Given the description of an element on the screen output the (x, y) to click on. 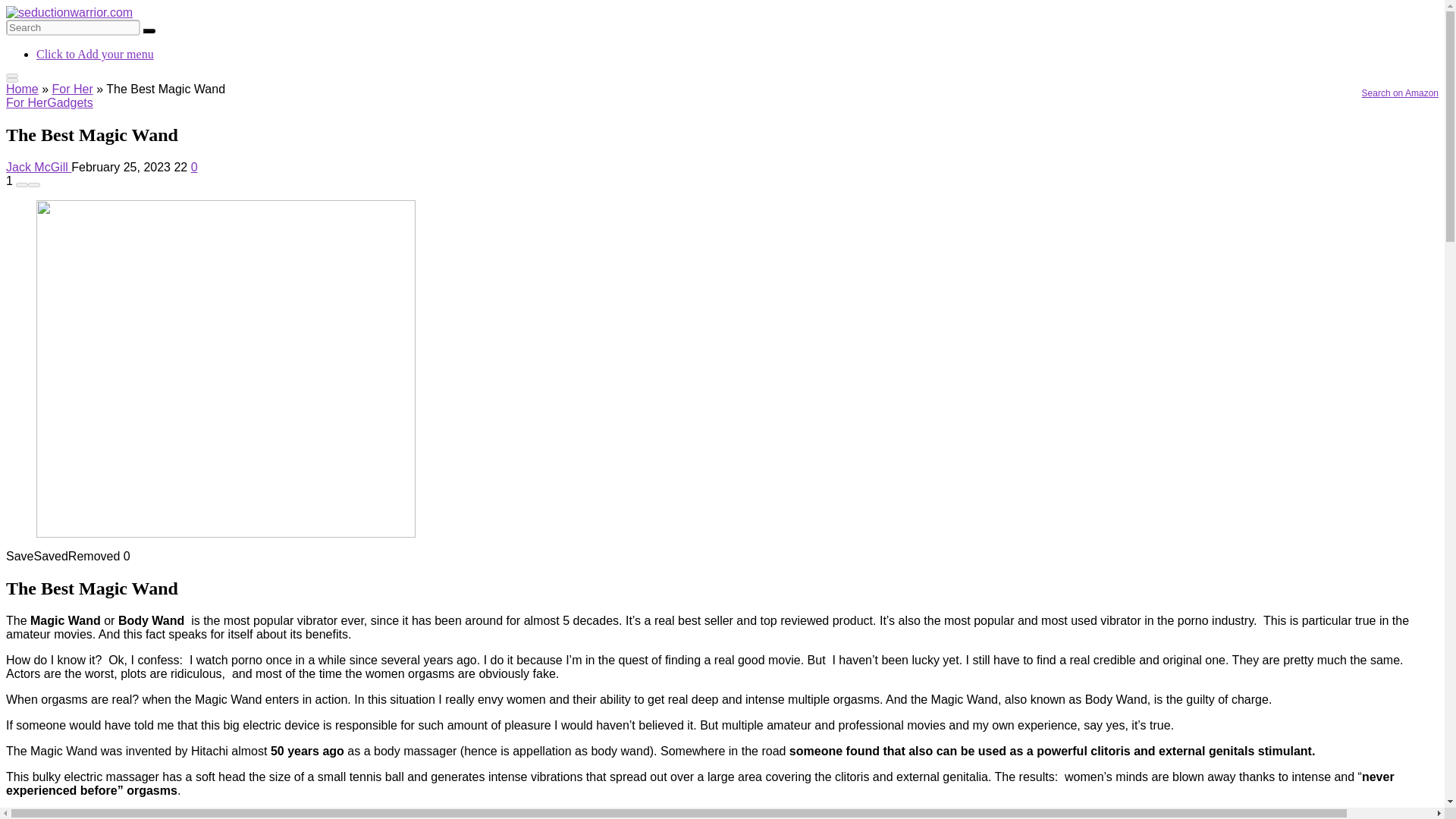
Jack McGill (38, 166)
For Her (71, 88)
Search on Amazon (1187, 92)
For Her (25, 102)
Vote down (21, 184)
Home (22, 88)
View all posts in For Her (25, 102)
Gadgets (69, 102)
View all posts in Gadgets (69, 102)
Vote up (33, 184)
